Given the description of an element on the screen output the (x, y) to click on. 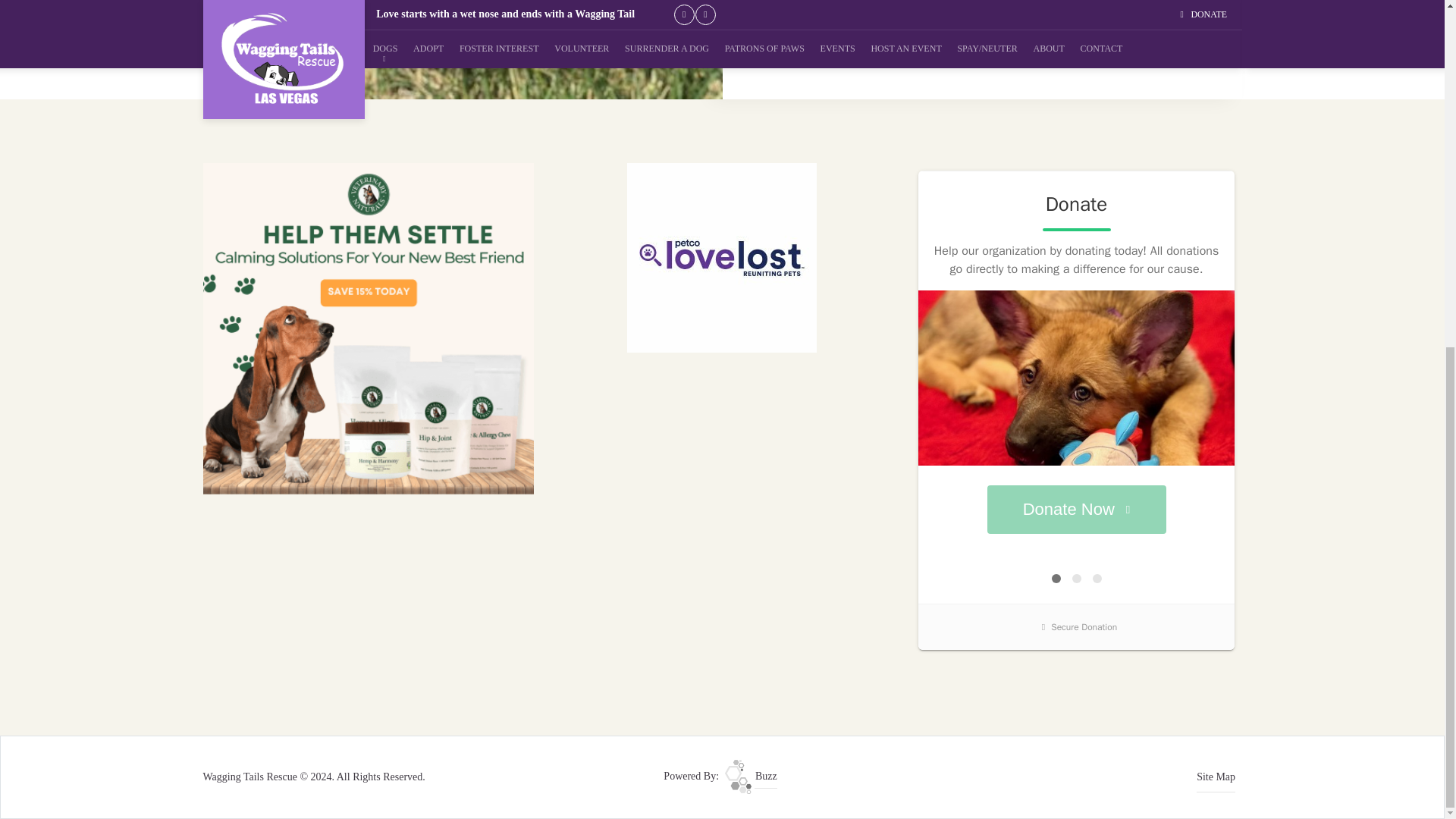
Buzz (750, 776)
Wagging Tails Rescue's Sponsor (368, 327)
Rescue Your Rescues (750, 776)
Tim (462, 49)
Site Map (1215, 777)
